Given the description of an element on the screen output the (x, y) to click on. 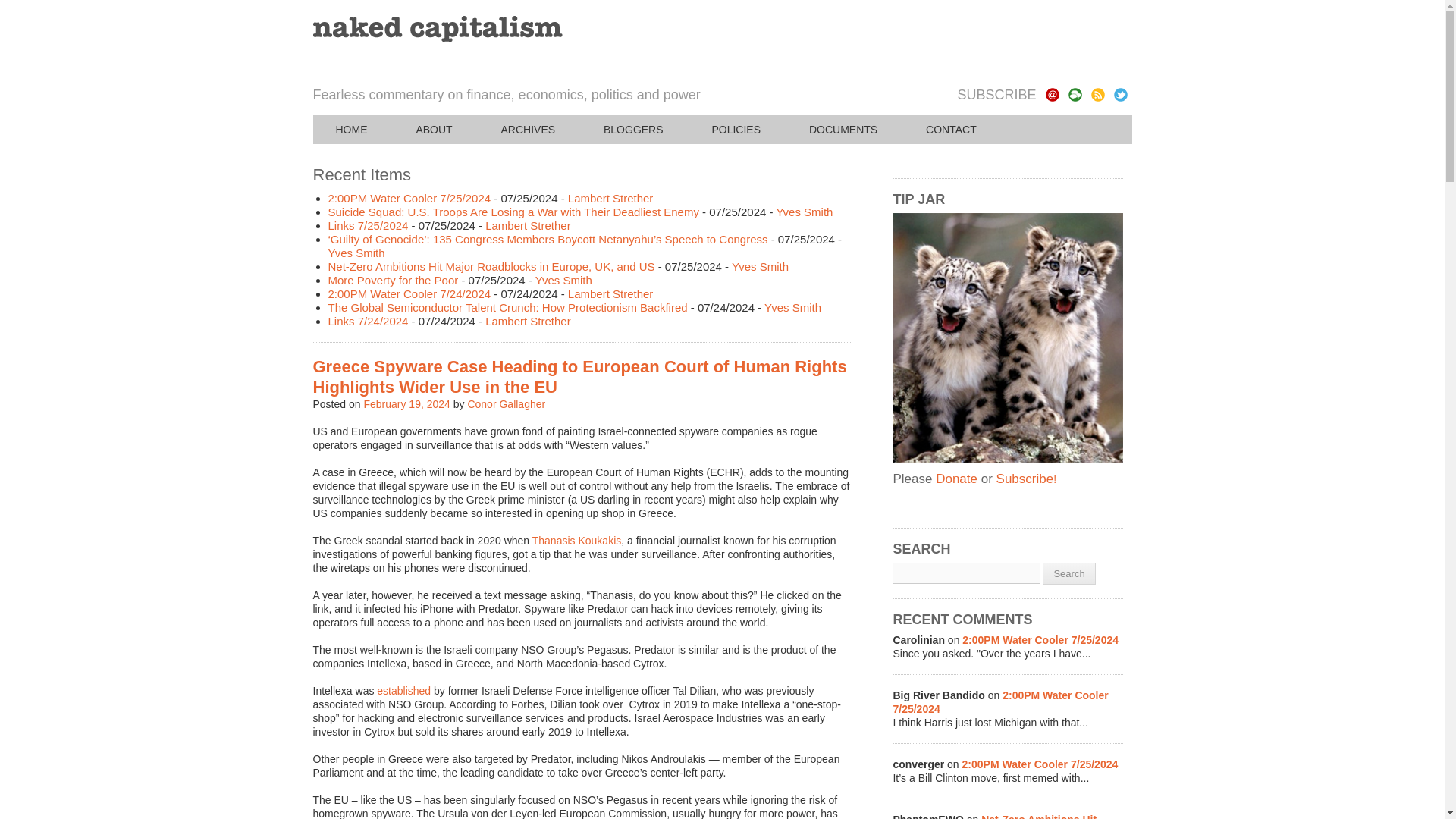
naked capitalism (437, 28)
Yves Smith (760, 266)
CONTACT (950, 129)
More Poverty for the Poor (392, 279)
Lambert Strether (527, 225)
Yves Smith (792, 307)
Search (1068, 573)
Lambert Strether (610, 293)
Subscribe via Email (1051, 94)
Subscribe to posts via Email (1051, 94)
BLOGGERS (632, 129)
Yves Smith (355, 252)
ABOUT (433, 129)
